Given the description of an element on the screen output the (x, y) to click on. 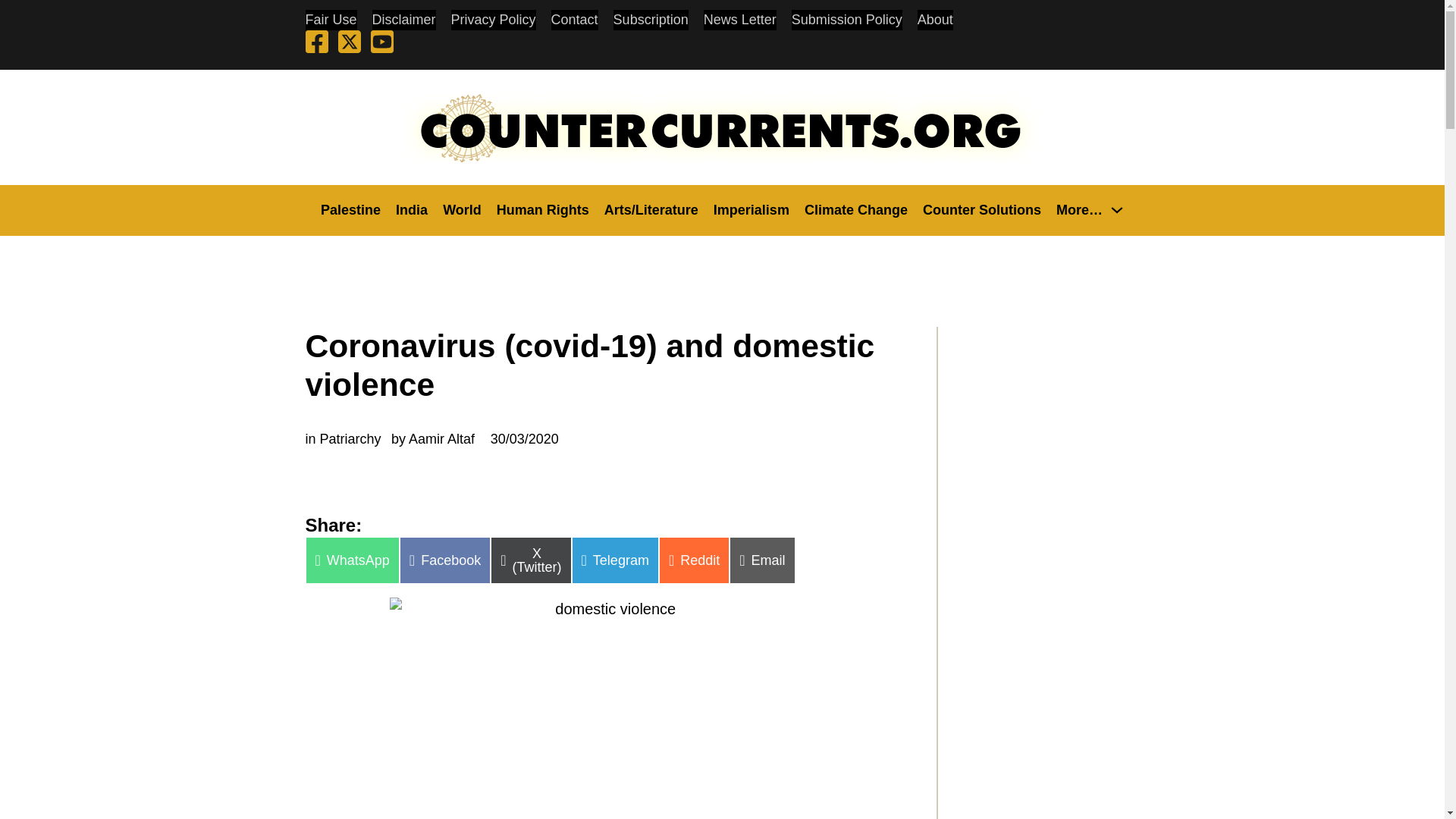
Fair Use (330, 19)
India (412, 209)
Privacy Policy (493, 19)
Imperialism (751, 209)
World (461, 209)
Follow us on Facebook (315, 44)
Submission Policy (847, 19)
News Letter (739, 19)
Follow us on Twitter (349, 44)
Palestine (350, 209)
Climate Change (856, 209)
Contact (574, 19)
Subscription (650, 19)
Human Rights (542, 209)
Counter Solutions (982, 209)
